Given the description of an element on the screen output the (x, y) to click on. 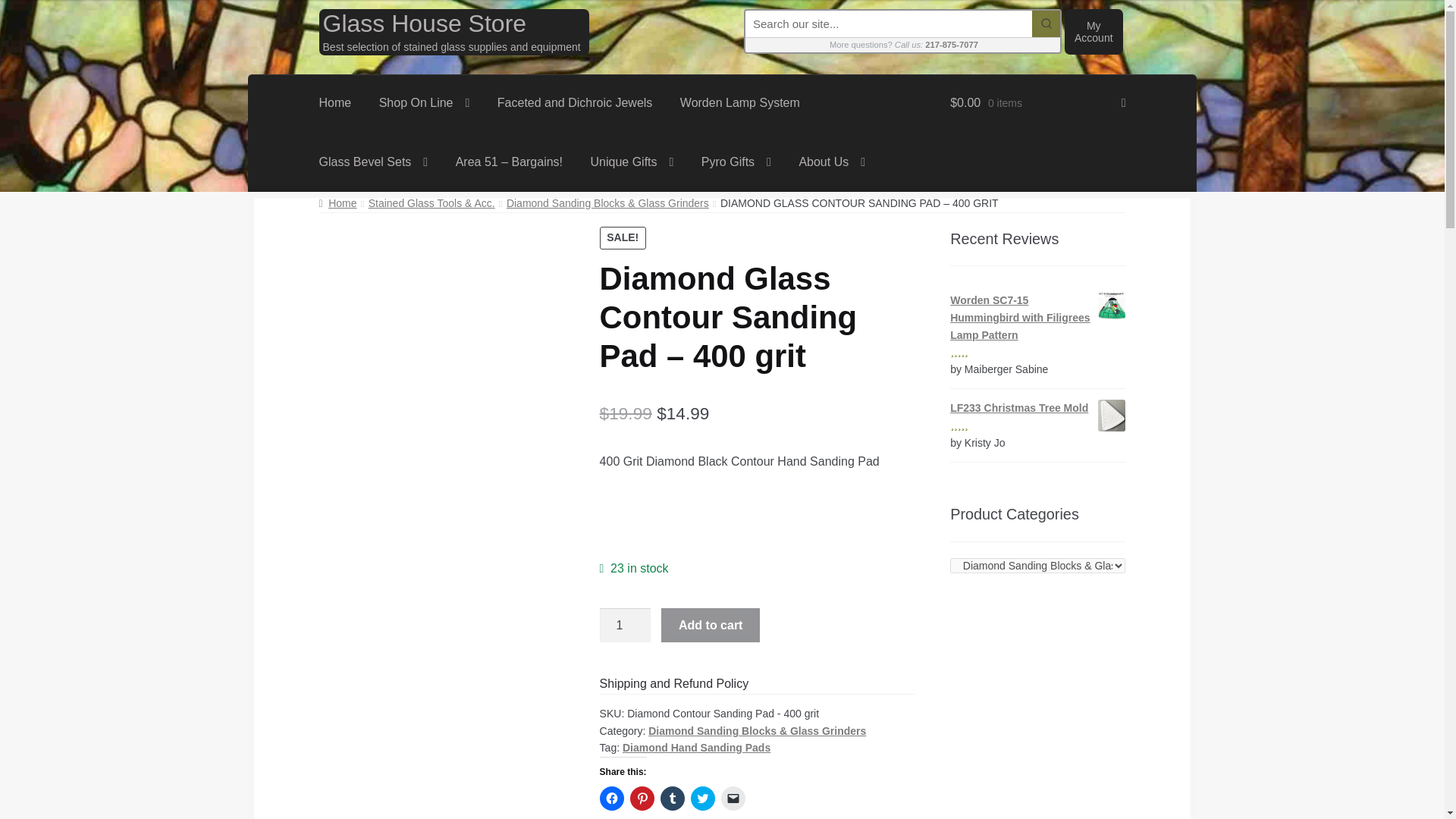
Click to email a link to a friend (732, 798)
Search our site... (888, 23)
Glass House Store (425, 22)
Click to share on Facebook (611, 798)
Click to share on Pinterest (641, 798)
Home (335, 103)
An account allows you to manage settings and orders (1093, 31)
View your shopping cart (1037, 103)
Click to share on Twitter (702, 798)
1 (624, 625)
My Account (1093, 31)
Search our site... (888, 23)
Shop On Line (423, 103)
Go (1045, 23)
